Given the description of an element on the screen output the (x, y) to click on. 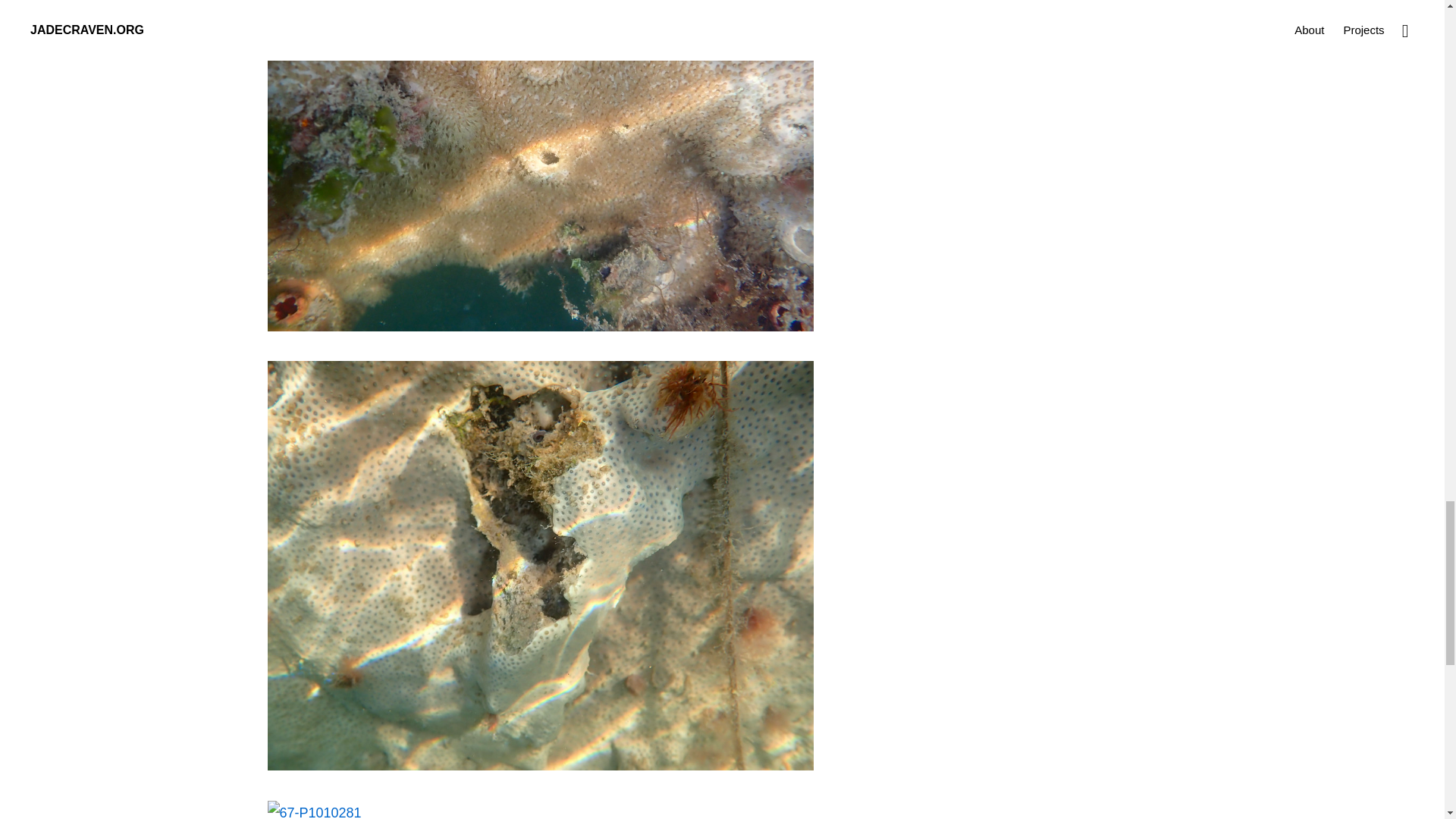
60-P1010268 (539, 326)
68-P1010284 (539, 765)
67-P1010281 (313, 812)
